Given the description of an element on the screen output the (x, y) to click on. 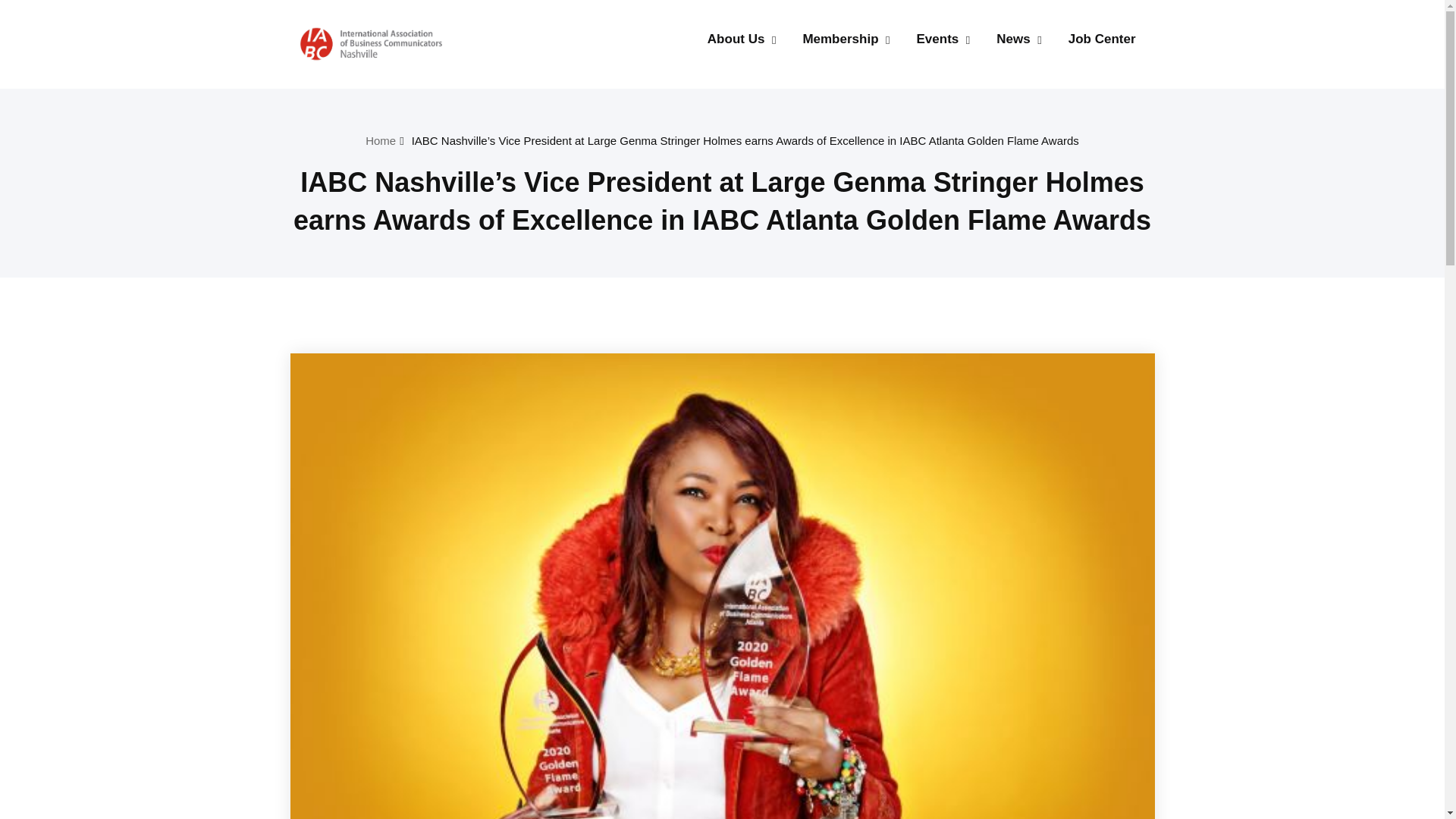
Home (380, 140)
Job Center (1102, 39)
Membership (839, 39)
About Us (735, 39)
